Given the description of an element on the screen output the (x, y) to click on. 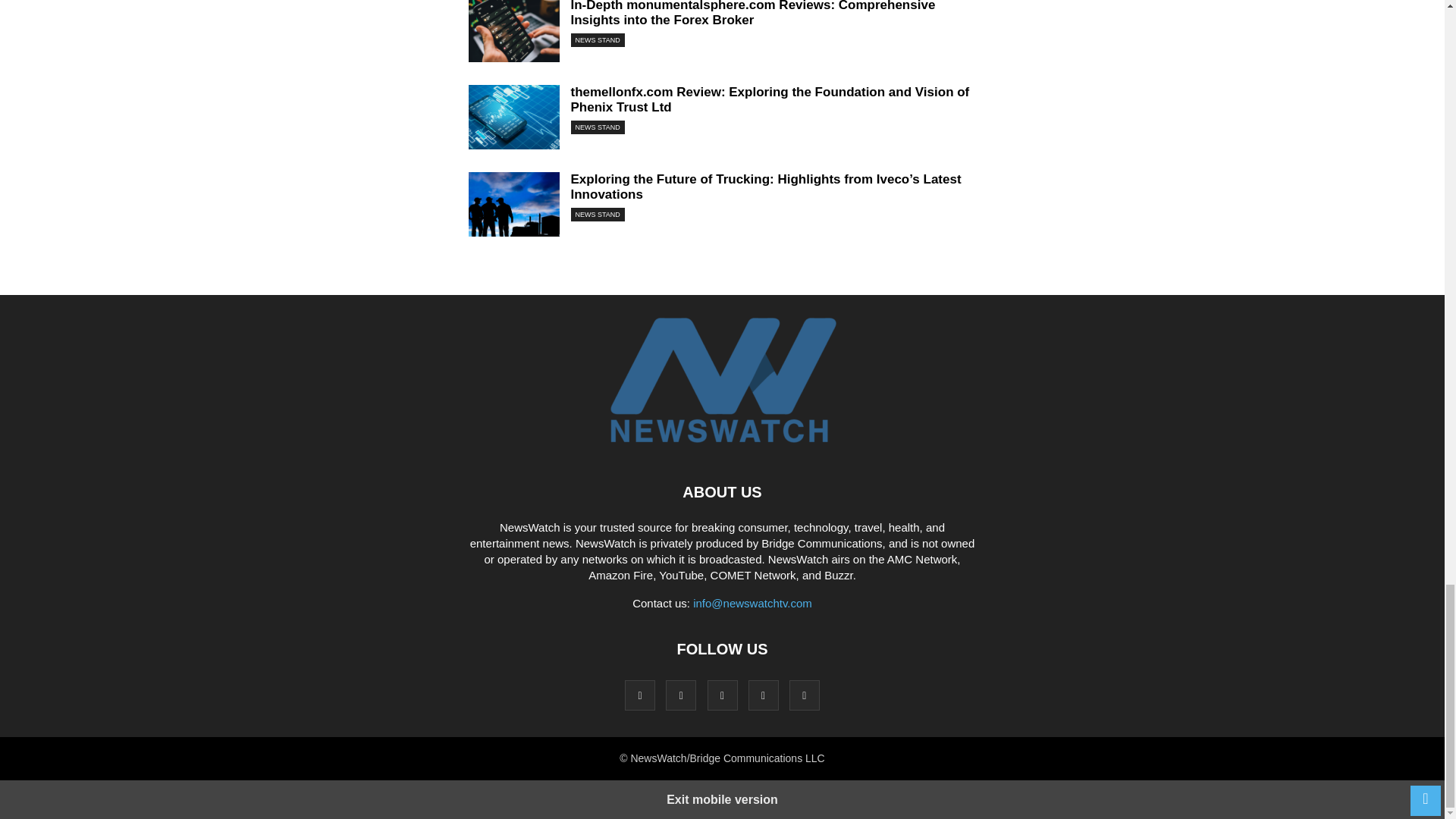
NEWS STAND (597, 214)
NEWS STAND (597, 127)
NEWS STAND (597, 39)
